Given the description of an element on the screen output the (x, y) to click on. 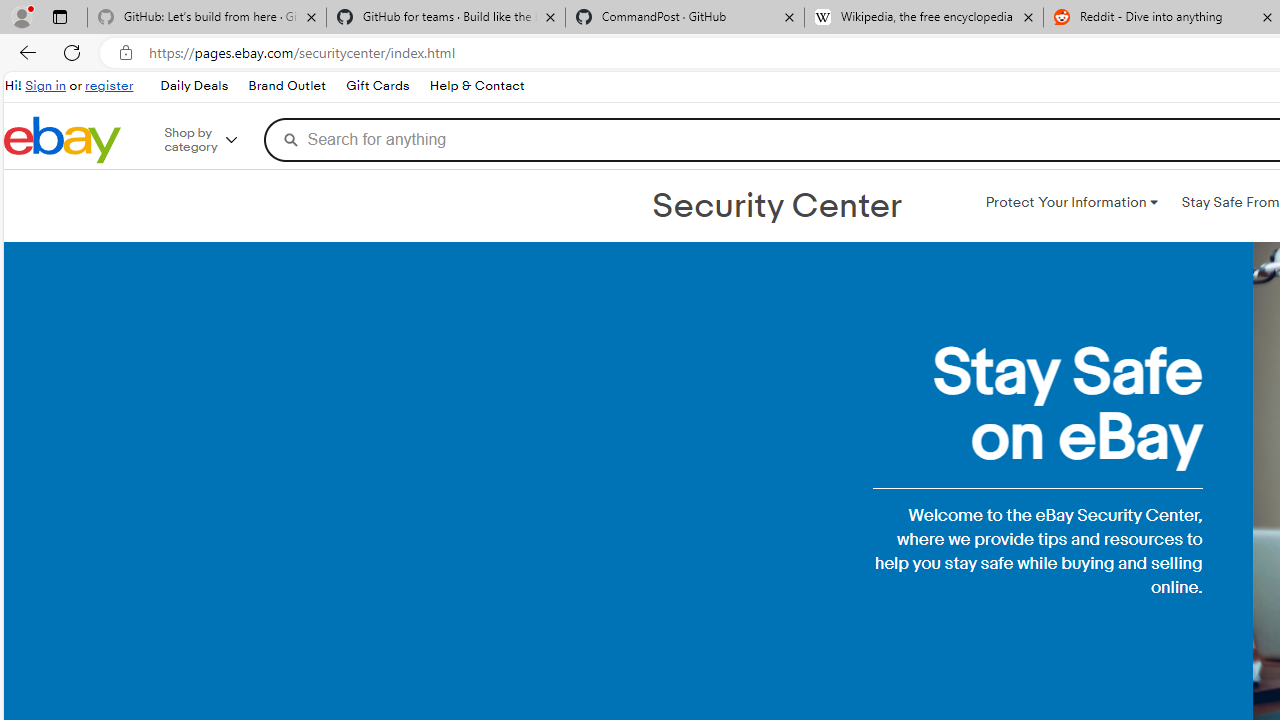
eBay Home (62, 139)
Security Center (776, 206)
Daily Deals (194, 86)
Protect Your Information  (1071, 202)
Wikipedia, the free encyclopedia (924, 17)
Help & Contact (476, 86)
